Given the description of an element on the screen output the (x, y) to click on. 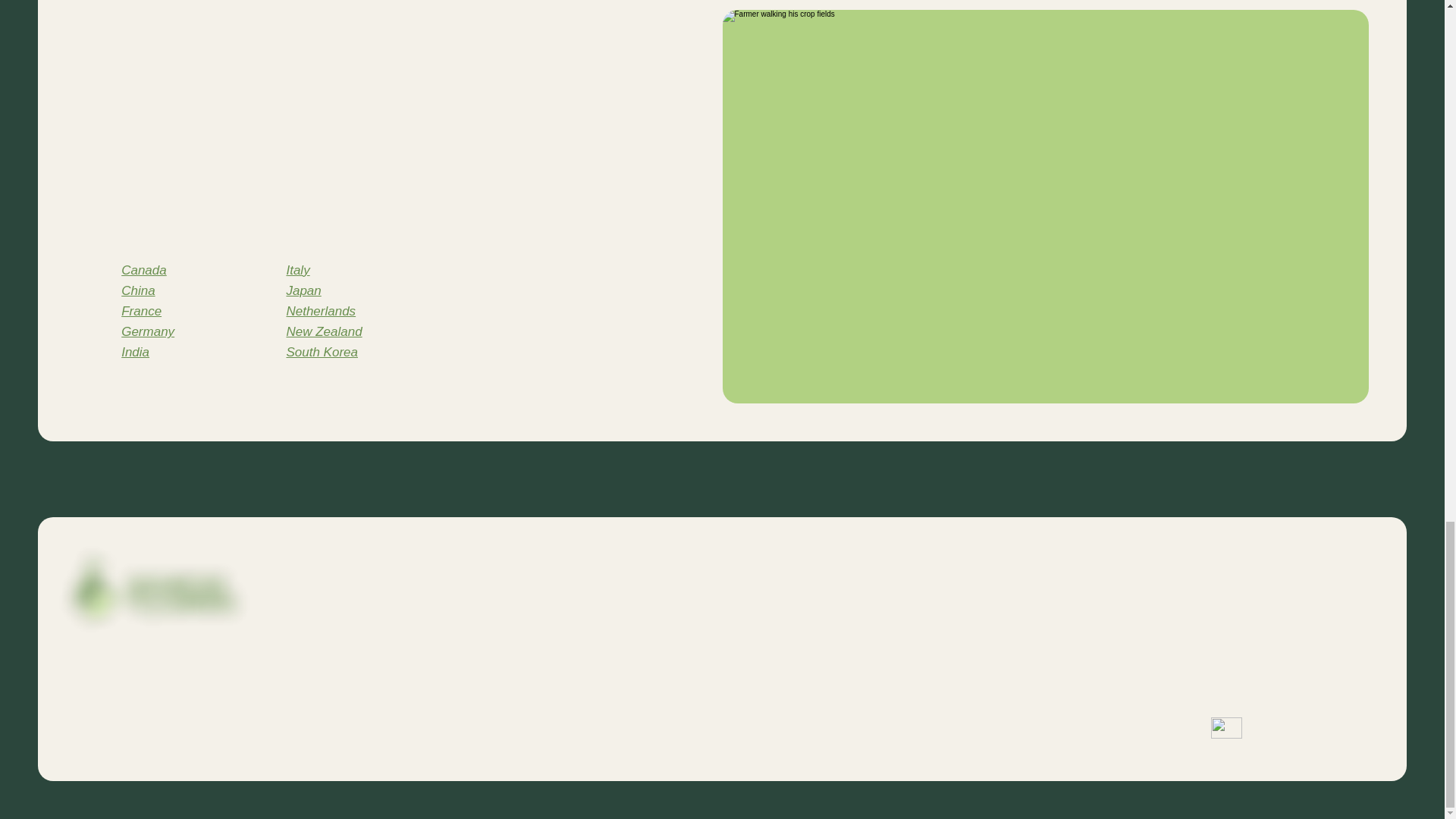
Canada (143, 194)
South Korea (321, 276)
New Zealand (323, 255)
China (137, 214)
India (134, 276)
Germany (147, 255)
Netherlands (320, 235)
Japan (302, 214)
Italy (296, 194)
France (140, 235)
